Given the description of an element on the screen output the (x, y) to click on. 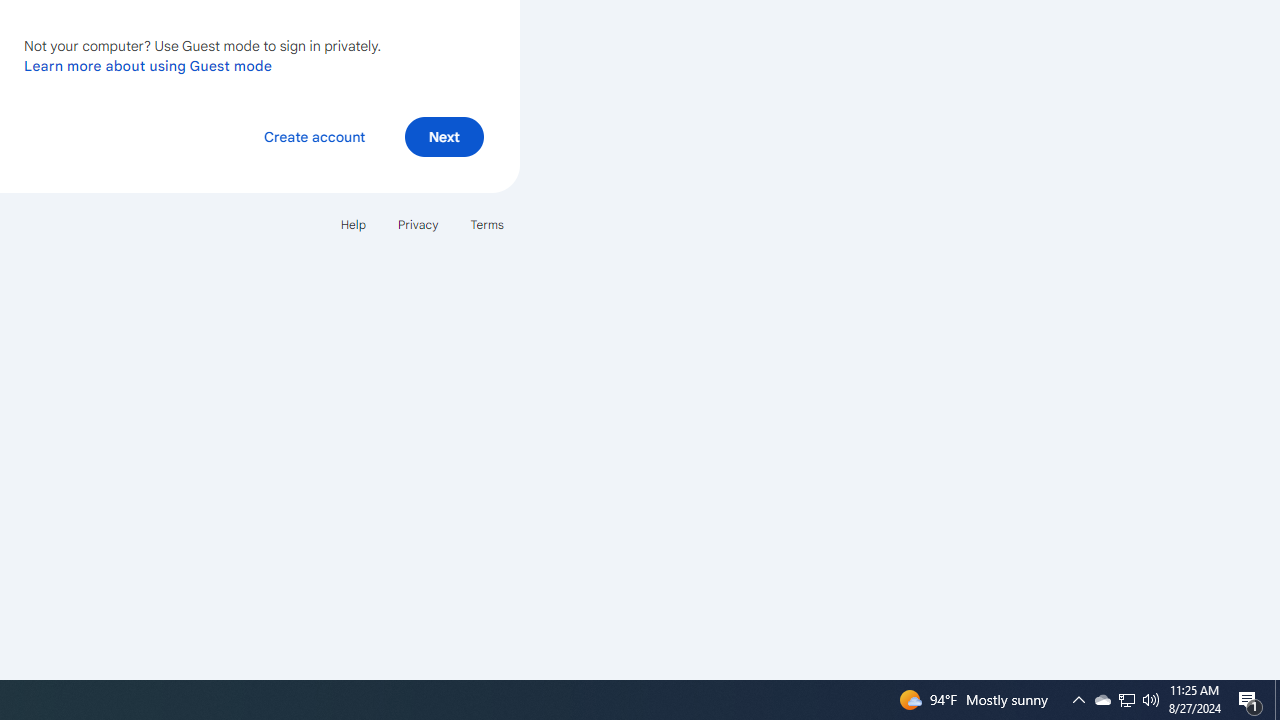
Privacy (417, 224)
Terms (486, 224)
Learn more about using Guest mode (148, 65)
Next (443, 135)
Help (352, 224)
Create account (314, 135)
